Given the description of an element on the screen output the (x, y) to click on. 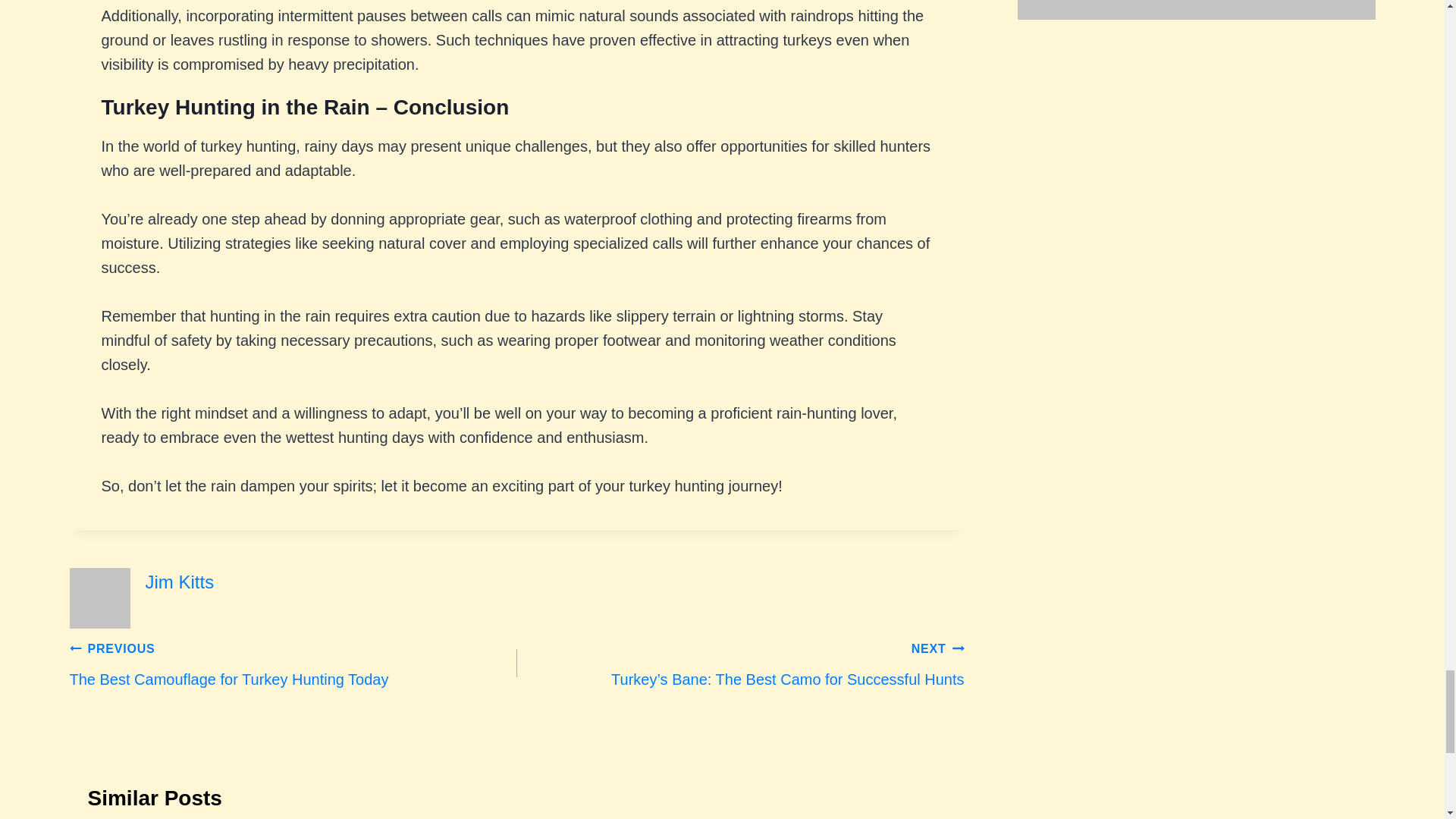
Posts by Jim Kitts (179, 581)
